Given the description of an element on the screen output the (x, y) to click on. 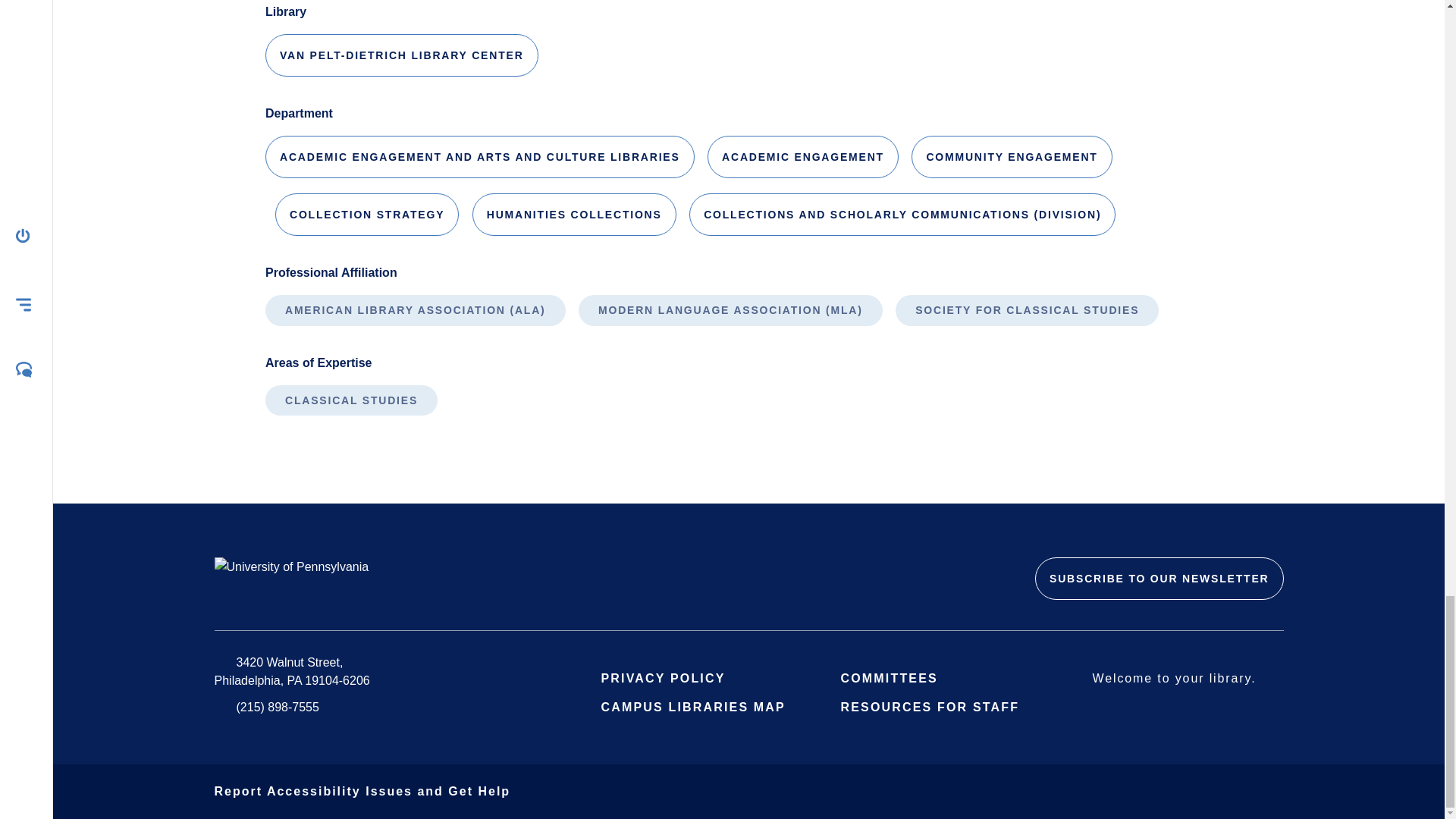
Link to Campus libraries map (702, 707)
Academic EngagementAcademic Engagement (802, 156)
Community EngagementCommunity Engagement (1011, 156)
Humanities CollectionsHumanities Collections (574, 214)
Link to Privacy Policy (672, 677)
Link to Committees (899, 677)
Link to Report Accessibility Issues and Get Help (362, 790)
Collection StrategyCollection Strategy (366, 214)
Link to Resources for Staff (939, 707)
